Given the description of an element on the screen output the (x, y) to click on. 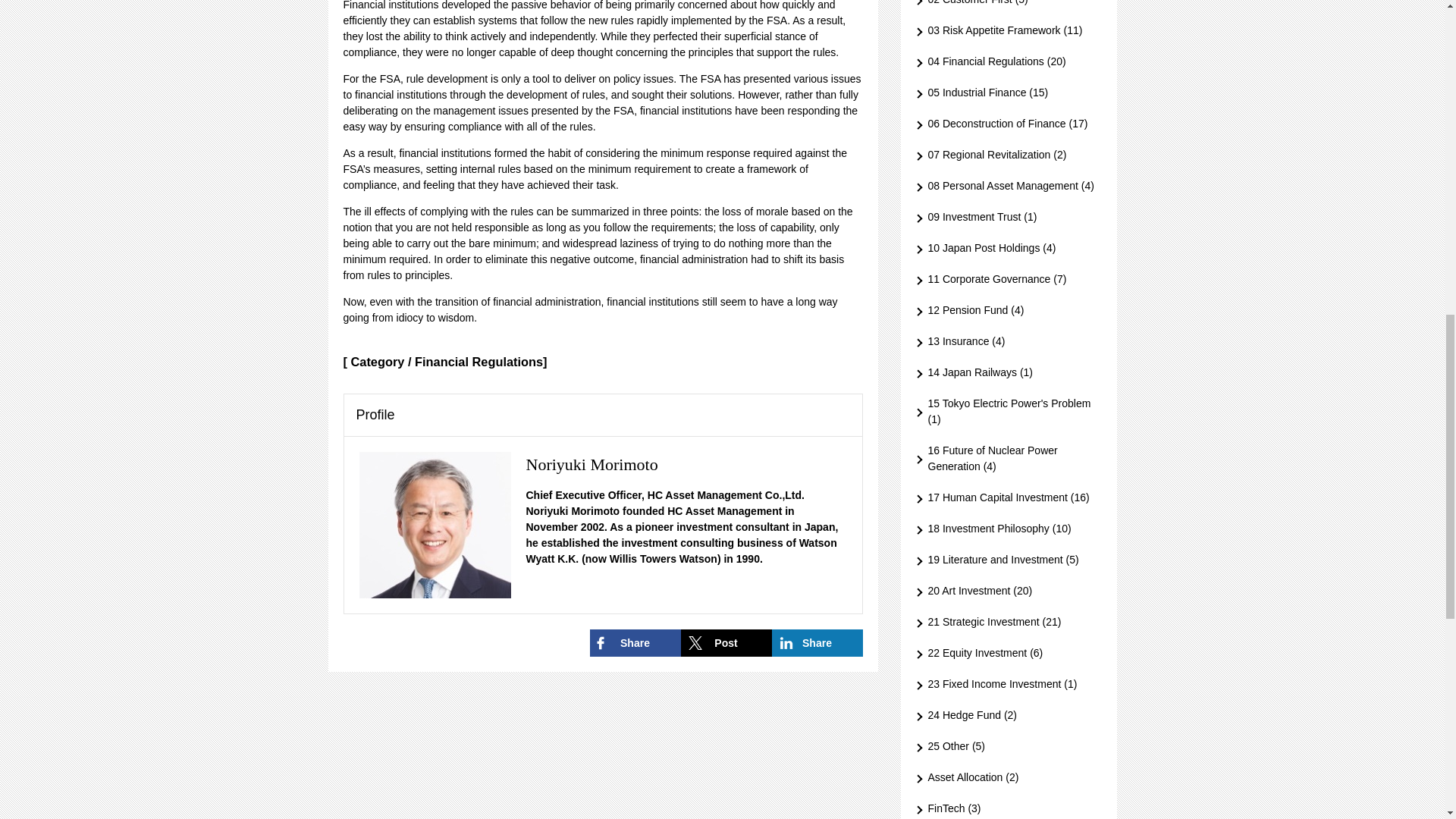
Share (635, 642)
Share (817, 642)
Post (726, 642)
